Given the description of an element on the screen output the (x, y) to click on. 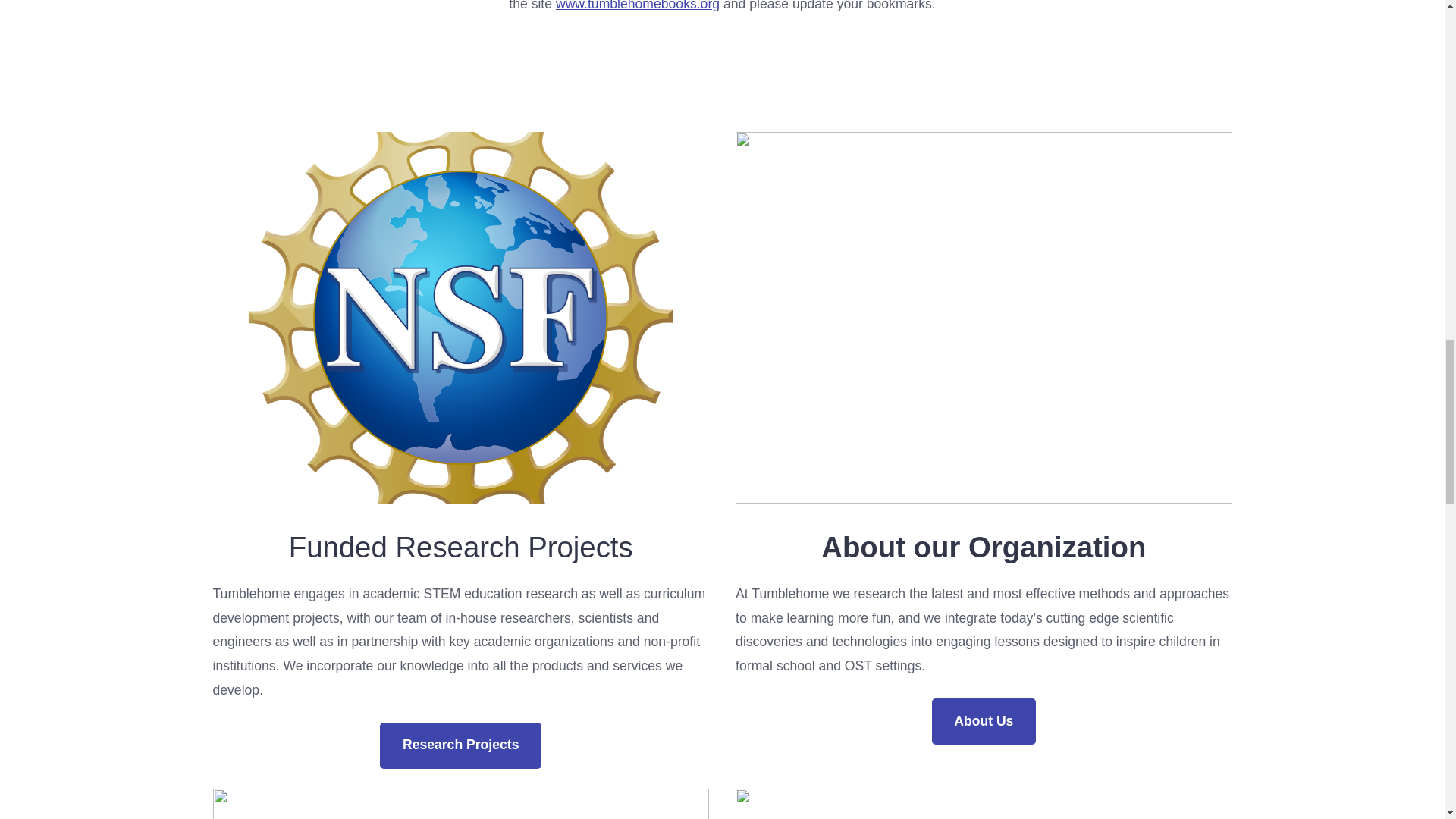
Research Projects (460, 745)
www.tumblehomebooks.org (637, 5)
About Us (983, 721)
